Given the description of an element on the screen output the (x, y) to click on. 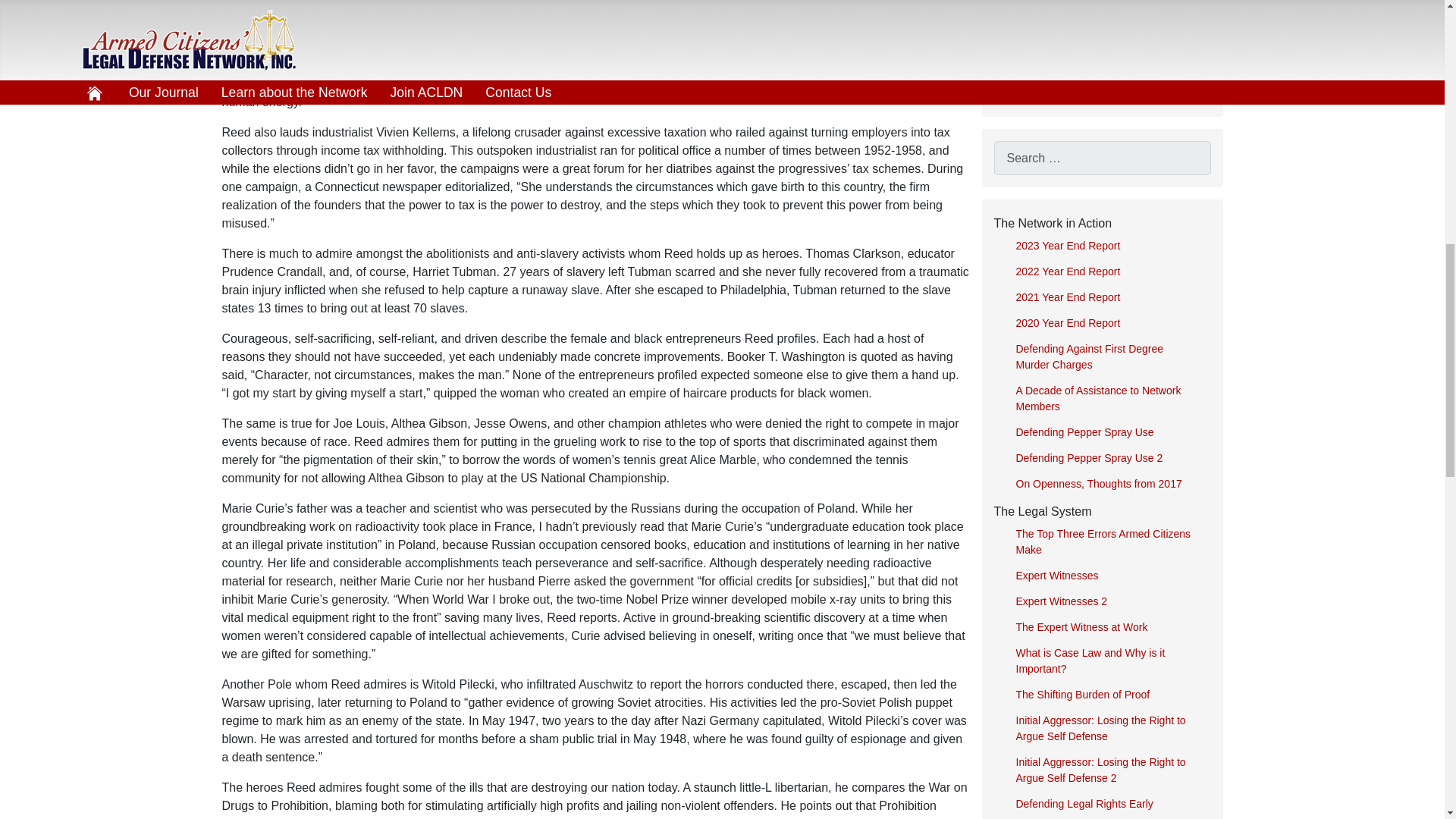
2011 Journals (1100, 7)
2010 Journals (1100, 32)
Defending Against First Degree Murder Charges (1106, 357)
2009 Journals (1100, 60)
2021 Year End Report (1106, 297)
A Decade of Assistance to Network Members (1106, 398)
2020 Year End Report (1106, 322)
2022 Year End Report (1106, 271)
2023 Year End Report (1106, 245)
2008 Journals (1100, 89)
